Given the description of an element on the screen output the (x, y) to click on. 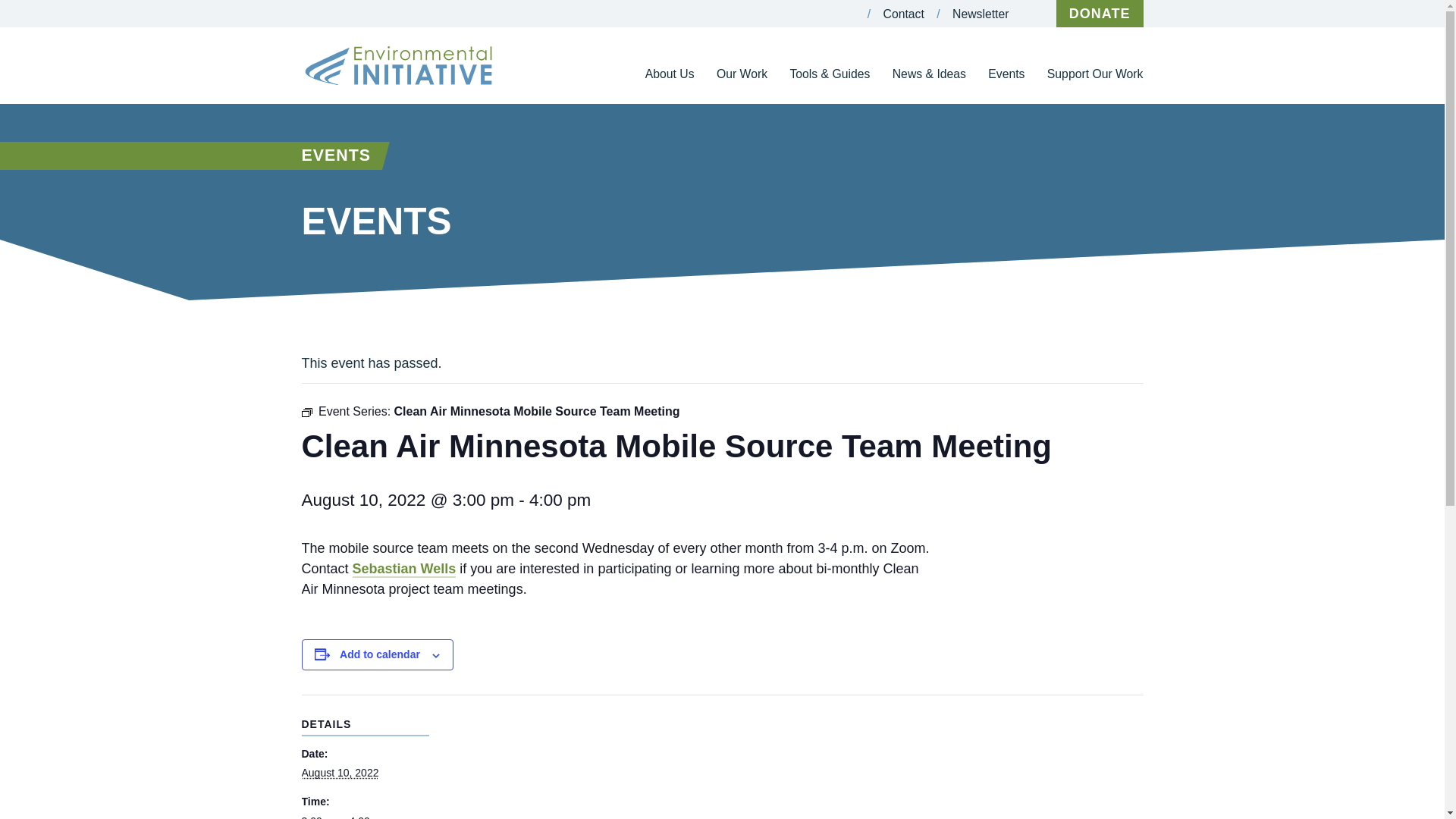
2022-08-10 (365, 816)
2022-08-10 (339, 772)
Go to Events. (336, 155)
About Us (669, 85)
Event Series (307, 411)
Team (675, 125)
Our Work (741, 85)
Newsletter (980, 13)
Clean Air Assistance Project (760, 138)
Contact (903, 13)
DONATE (1099, 13)
